Given the description of an element on the screen output the (x, y) to click on. 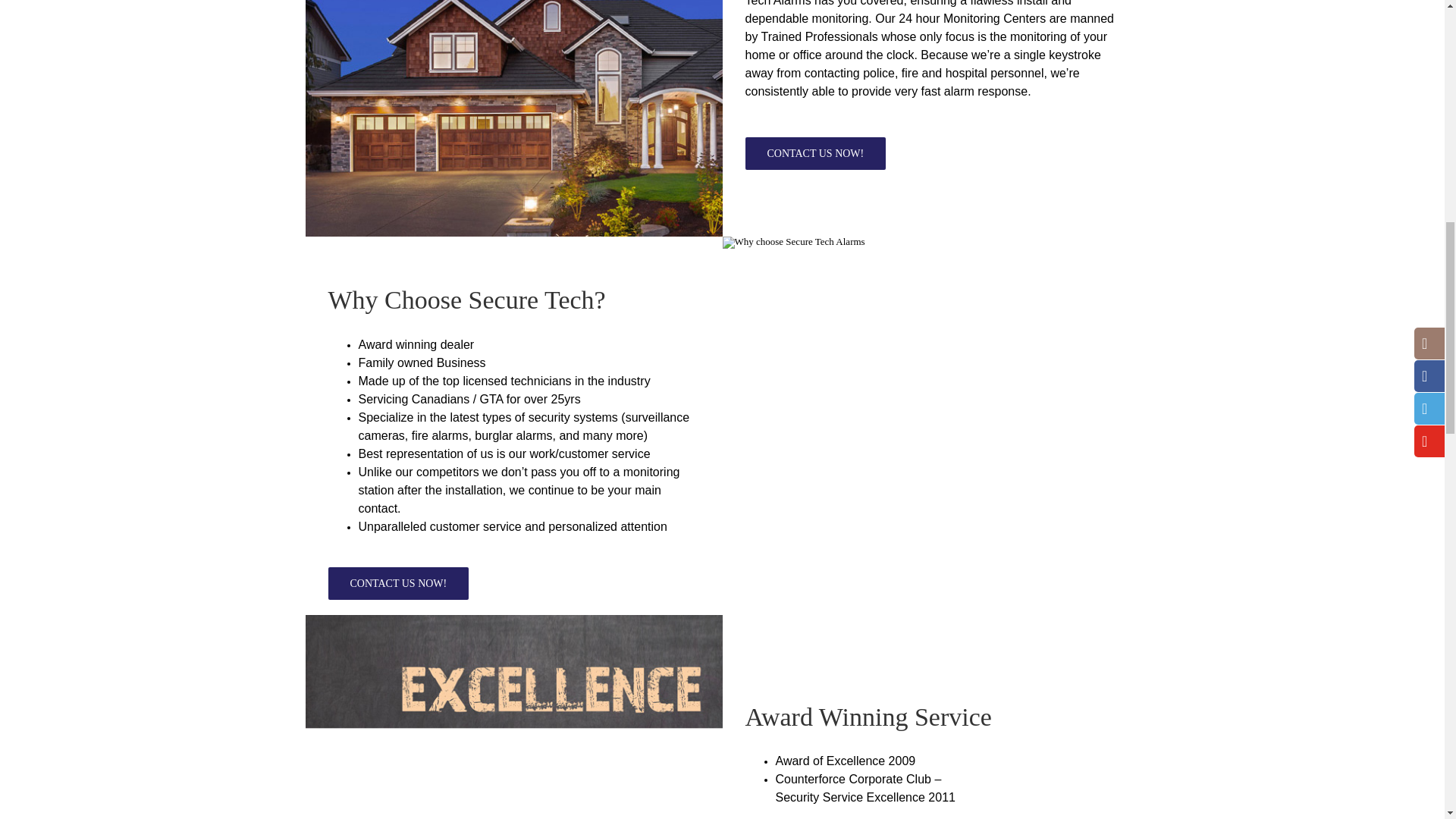
why-choose-secure-tech (793, 242)
security-560 (513, 118)
CONTACT US NOW! (814, 153)
CONTACT US NOW! (397, 583)
excellence (513, 717)
